Given the description of an element on the screen output the (x, y) to click on. 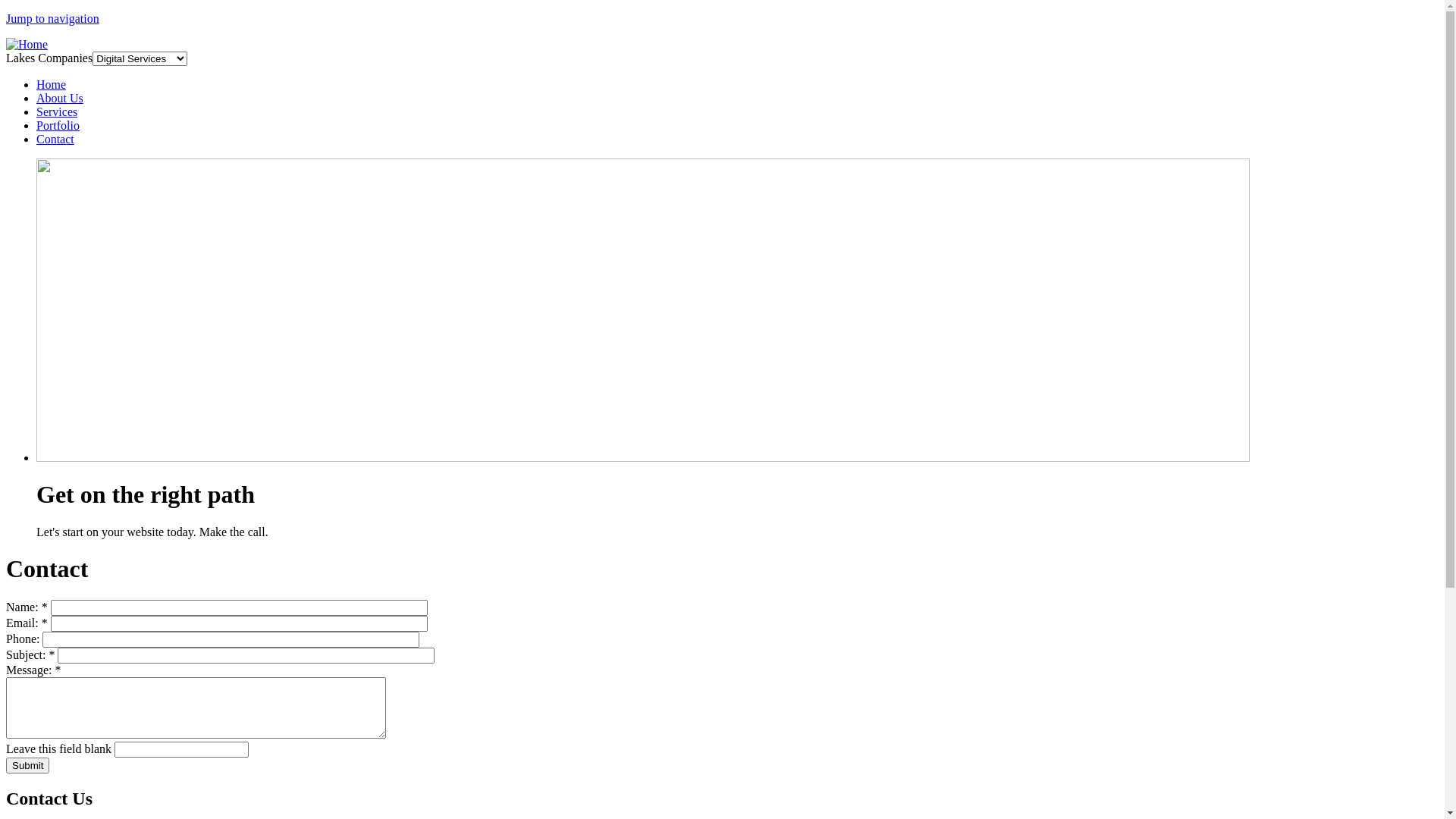
Services Element type: text (56, 111)
Submit Element type: text (27, 765)
Home Element type: text (50, 84)
About Us Element type: text (59, 97)
Home Element type: hover (26, 43)
Contact Element type: text (55, 138)
Jump to navigation Element type: text (52, 18)
Portfolio Element type: text (57, 125)
